Given the description of an element on the screen output the (x, y) to click on. 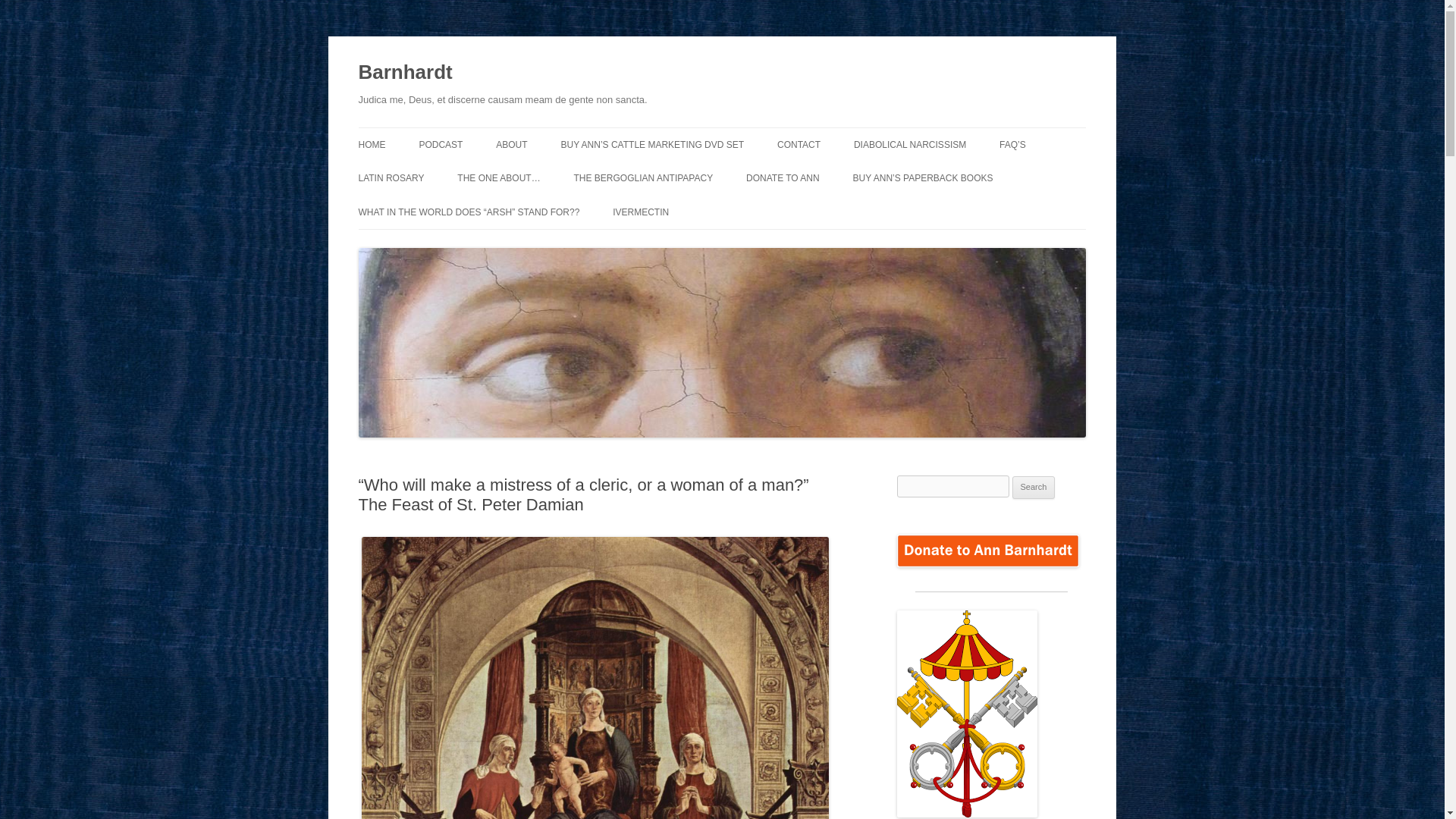
Search (1033, 486)
THE BERGOGLIAN ANTIPAPACY (643, 177)
PODCAST (441, 144)
Barnhardt (404, 72)
LATIN ROSARY (390, 177)
ABOUT (511, 144)
IVERMECTIN (640, 212)
Barnhardt (404, 72)
DIABOLICAL NARCISSISM (909, 144)
DONATE TO ANN (782, 177)
Search (1033, 486)
CONTACT (799, 144)
